Given the description of an element on the screen output the (x, y) to click on. 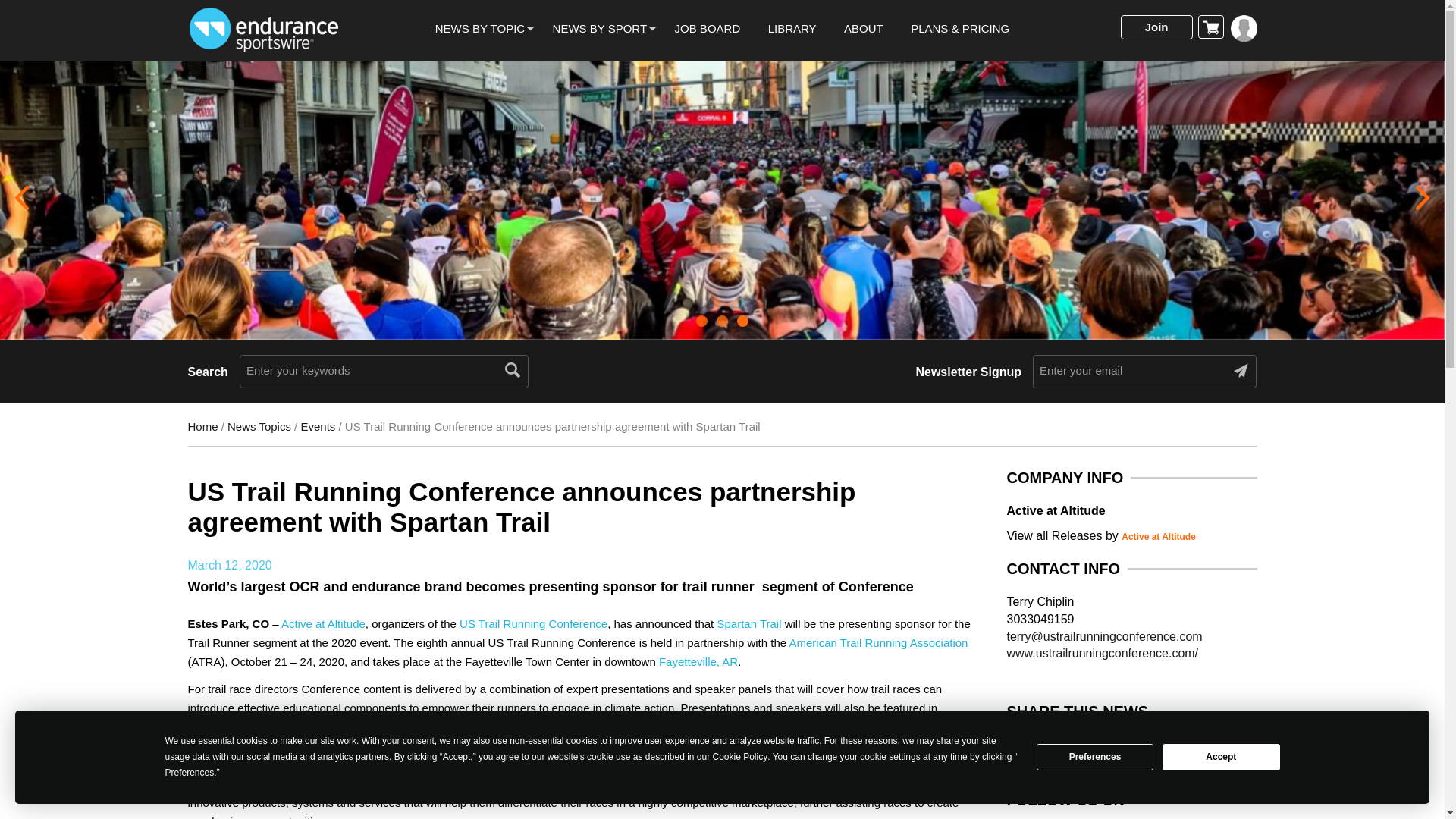
Google Gmail (1126, 749)
JOB BOARD (708, 28)
Twitter (1045, 749)
Join (1156, 27)
Instagram (1099, 749)
Posts by Active at Altitude (1158, 536)
Facebook (1020, 749)
Linkedin (1072, 749)
Preferences (189, 772)
NEWS BY TOPIC (479, 28)
Email (1152, 749)
Cookie Policy (740, 756)
ABOUT (863, 28)
Accept (1220, 756)
NEWS BY SPORT (599, 28)
